Given the description of an element on the screen output the (x, y) to click on. 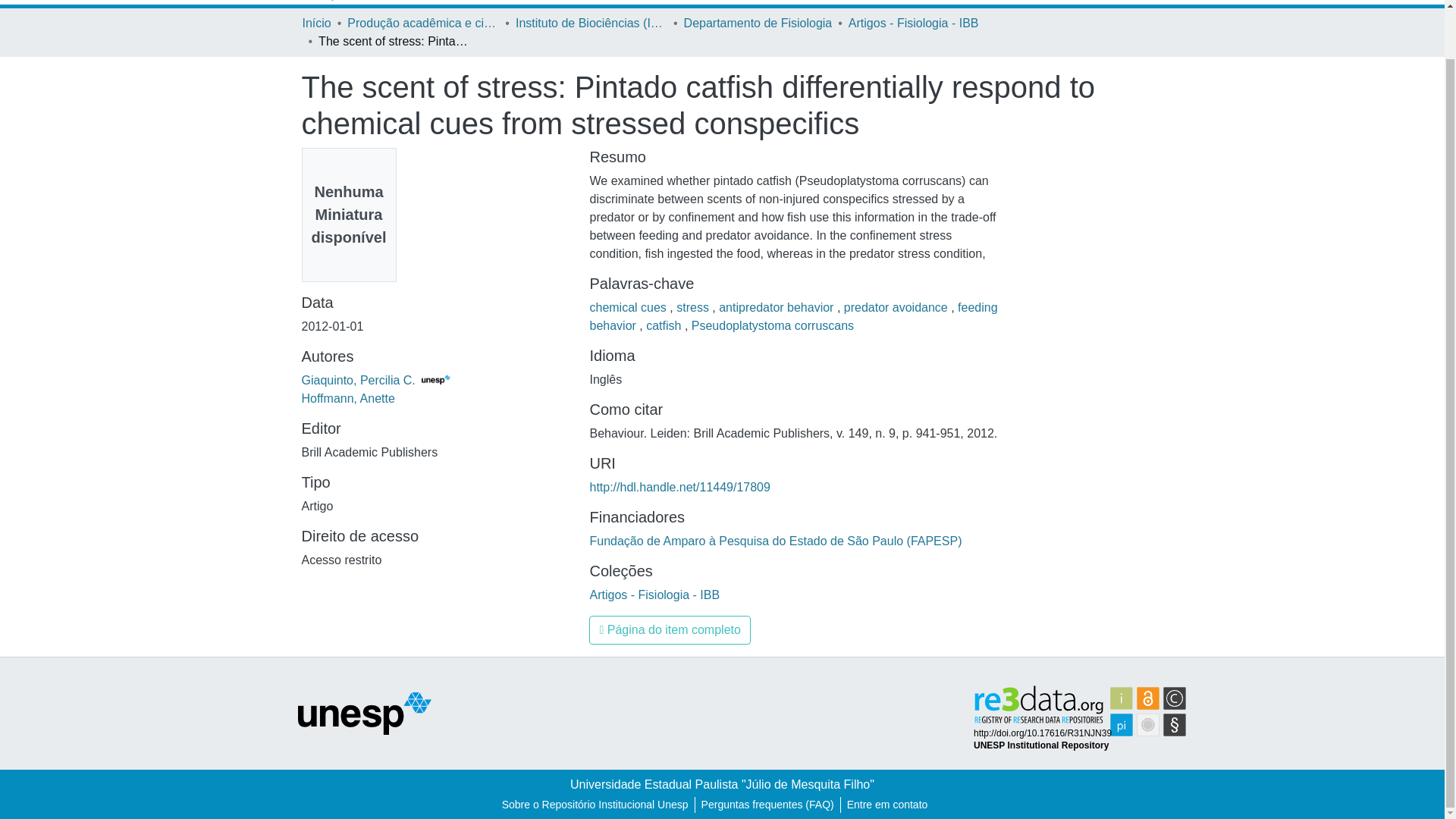
feeding behavior (793, 316)
catfish (665, 325)
chemical cues (629, 307)
predator avoidance (897, 307)
Artigos - Fisiologia - IBB (913, 23)
Pseudoplatystoma corruscans (772, 325)
Departamento de Fisiologia (758, 23)
antipredator behavior (778, 307)
Giaquinto, Percilia C. (375, 379)
Artigos - Fisiologia - IBB (654, 594)
stress (694, 307)
Hoffmann, Anette (347, 398)
